Given the description of an element on the screen output the (x, y) to click on. 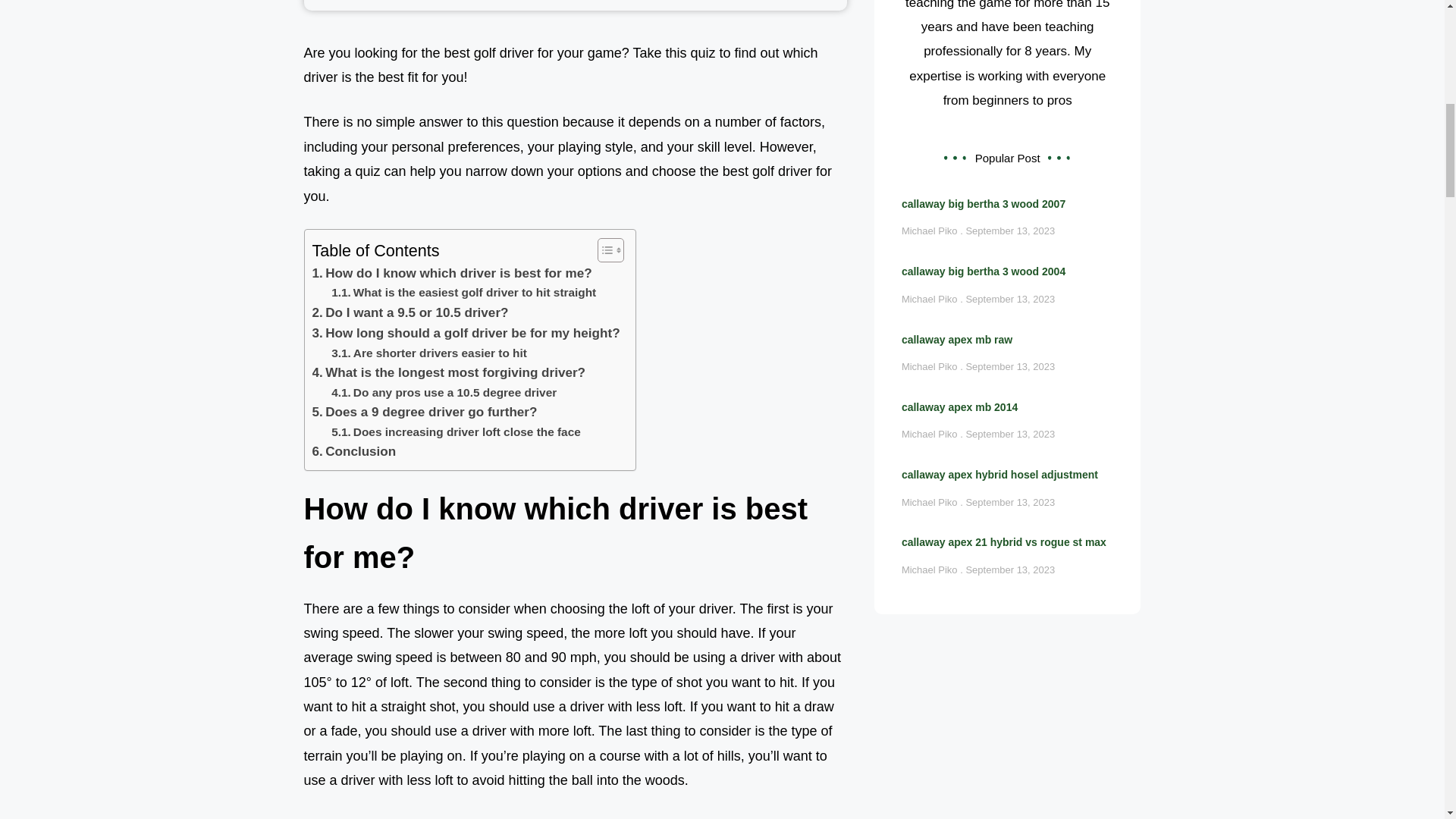
 Conclusion  (354, 451)
Does increasing driver loft close the face (455, 432)
 What is the easiest golf driver to hit straight  (463, 292)
Are shorter drivers easier to hit (429, 353)
Conclusion (354, 451)
What is the longest most forgiving driver? (449, 372)
Do any pros use a 10.5 degree driver (443, 393)
 Are shorter drivers easier to hit  (429, 353)
 How long should a golf driver be for my height?  (466, 332)
 What is the longest most forgiving driver?  (449, 372)
